Given the description of an element on the screen output the (x, y) to click on. 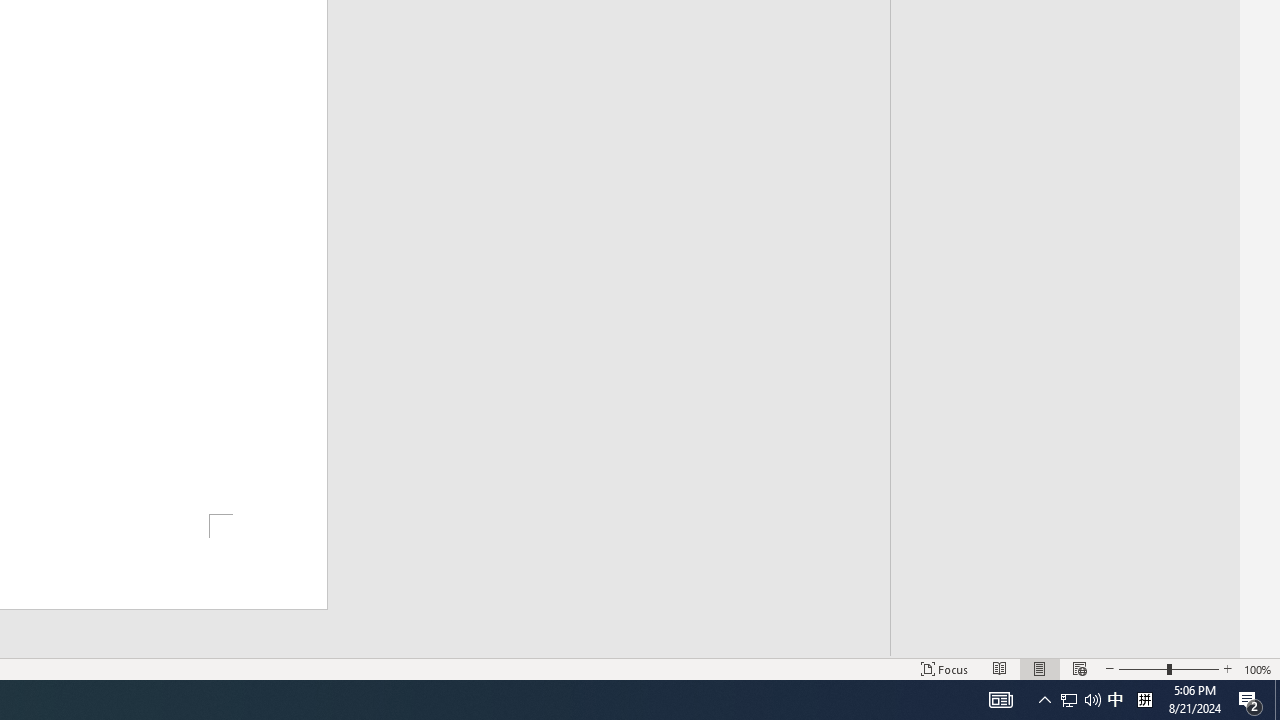
Zoom (1168, 668)
Zoom 100% (1258, 668)
